Given the description of an element on the screen output the (x, y) to click on. 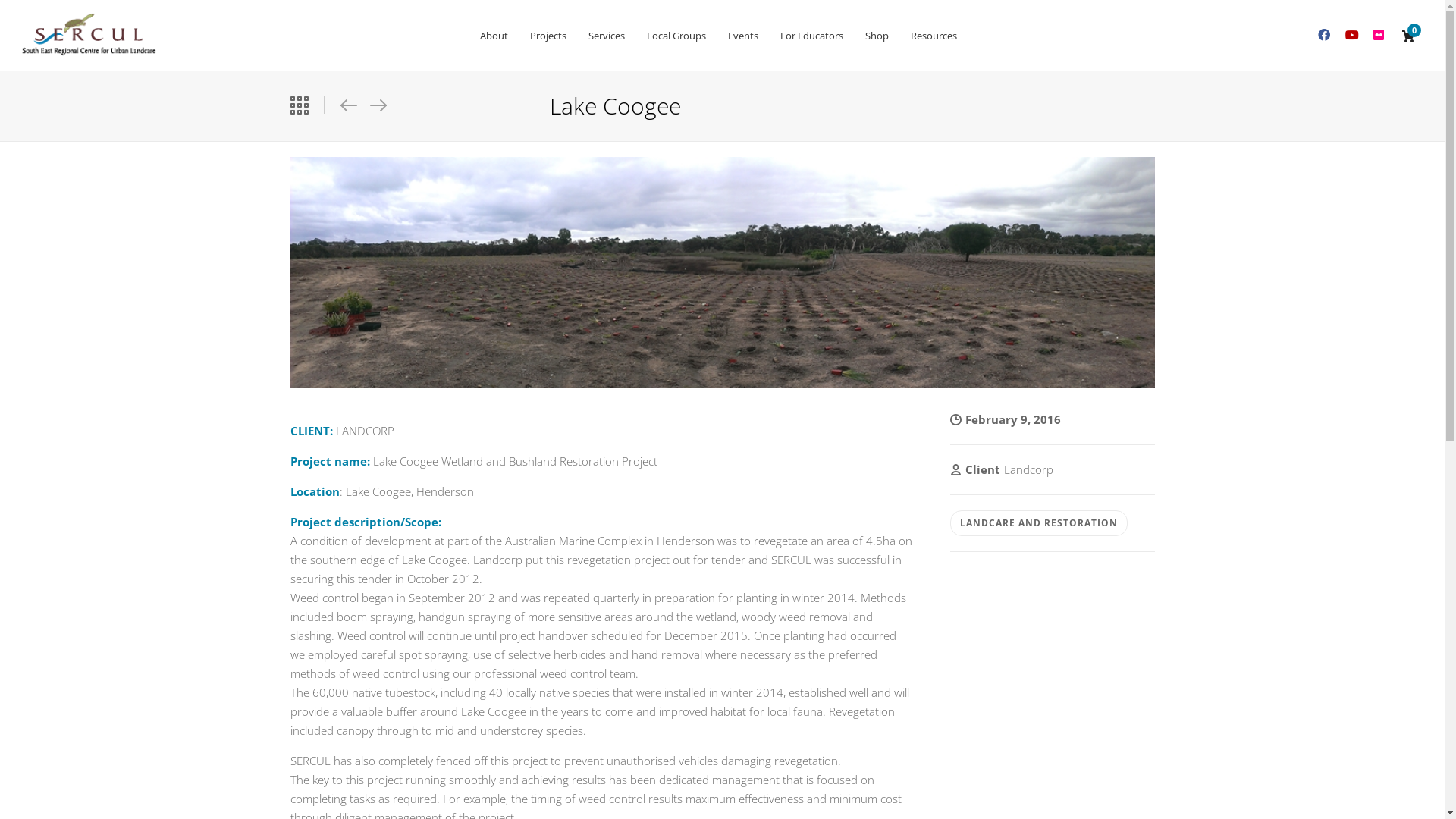
For Educators Element type: text (811, 35)
LANDCARE AND RESTORATION Element type: text (1037, 523)
About Element type: text (493, 35)
Projects Element type: text (547, 35)
0 Element type: text (1408, 36)
Shop Element type: text (876, 35)
Services Element type: text (605, 35)
Local Groups Element type: text (676, 35)
Events Element type: text (741, 35)
Resources Element type: text (933, 35)
